Given the description of an element on the screen output the (x, y) to click on. 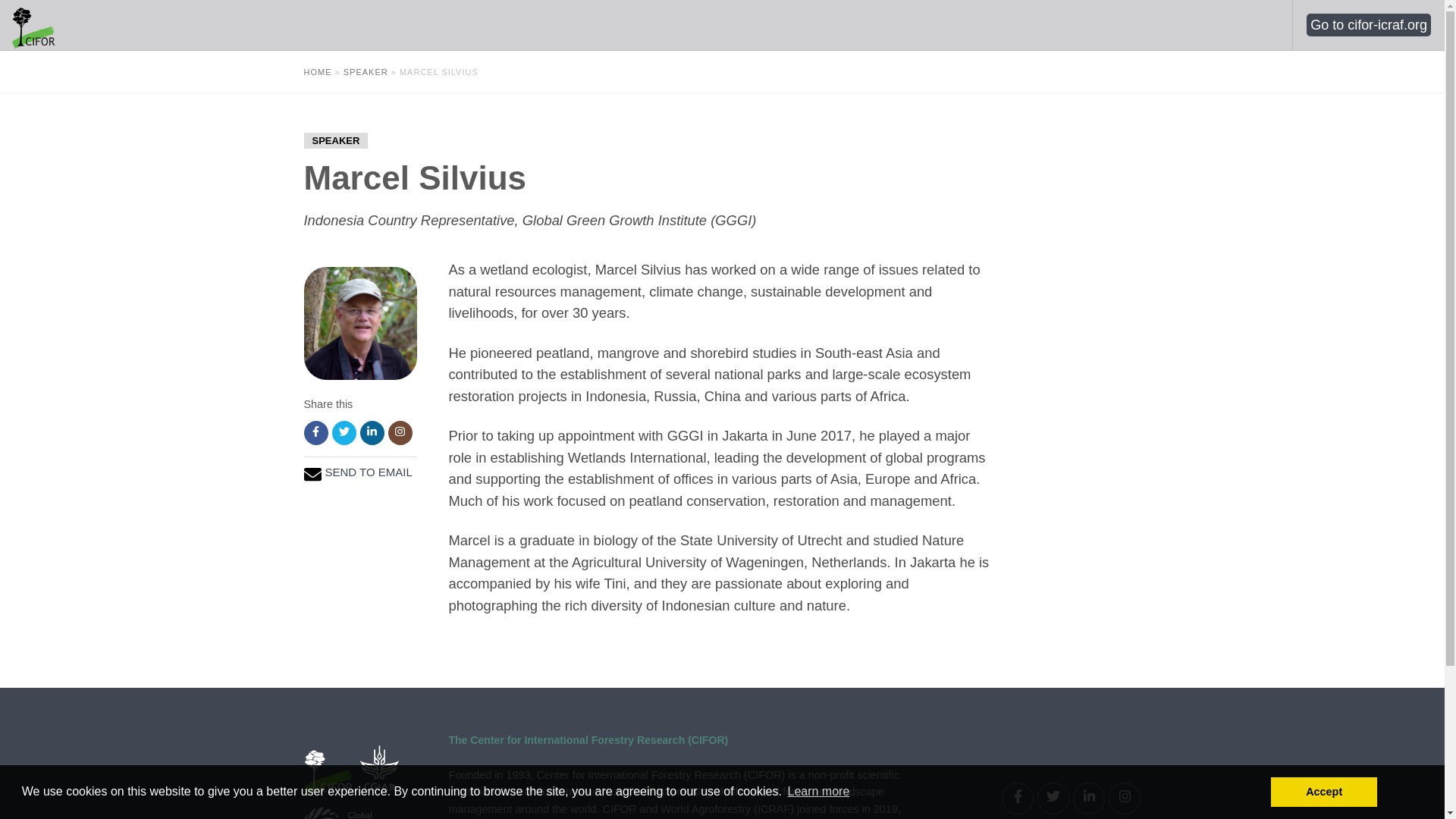
SPEAKER (365, 71)
Accept (1324, 791)
SEND TO EMAIL (368, 472)
HOME (316, 71)
Learn more (817, 791)
